Given the description of an element on the screen output the (x, y) to click on. 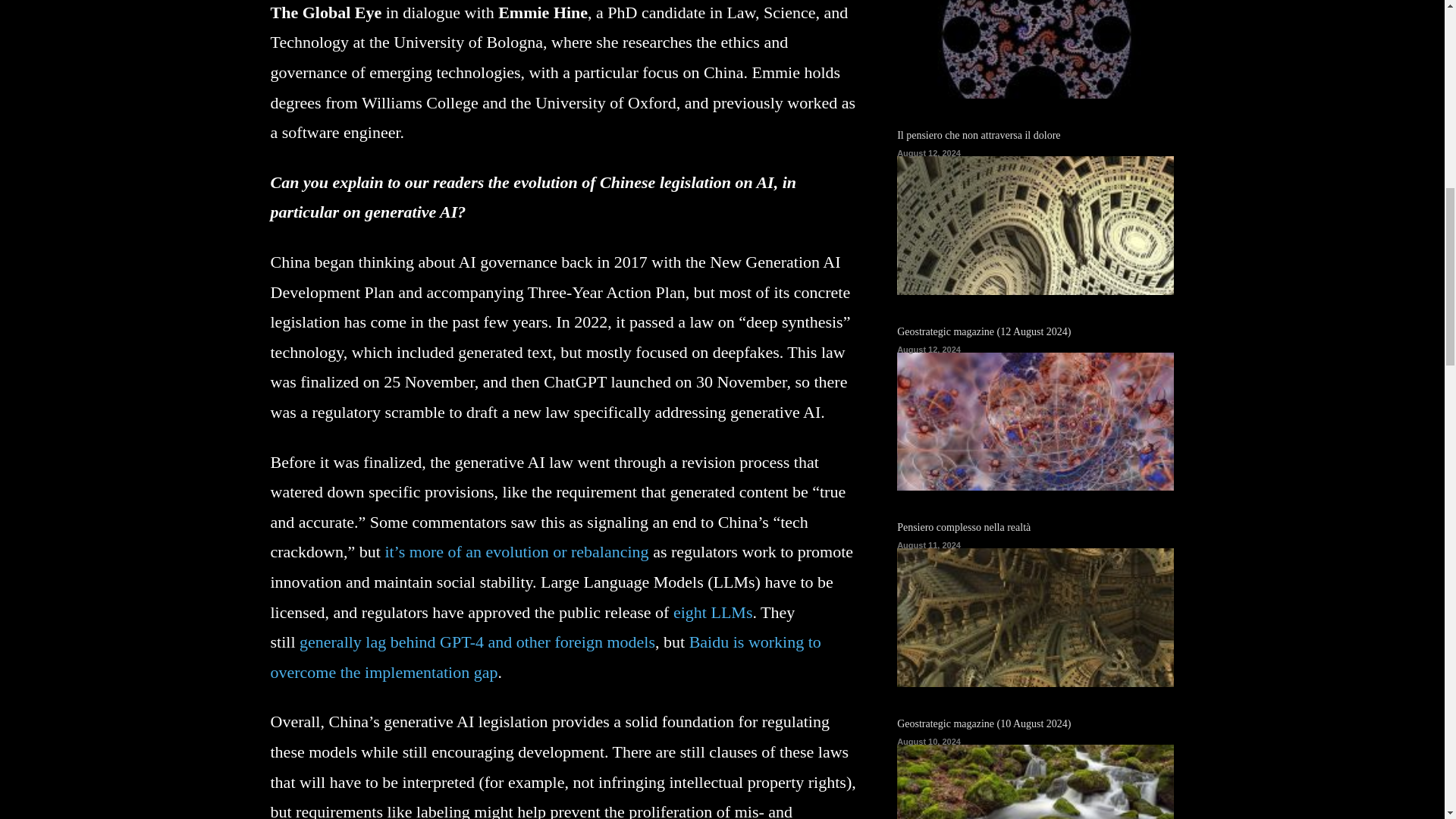
generally lag behind GPT-4 and other foreign models (477, 641)
Il pensiero che non attraversa il dolore (1034, 225)
eight LLMs (712, 611)
Baidu is working to overcome the implementation gap (545, 656)
Il pensiero che non attraversa il dolore (977, 134)
